Given the description of an element on the screen output the (x, y) to click on. 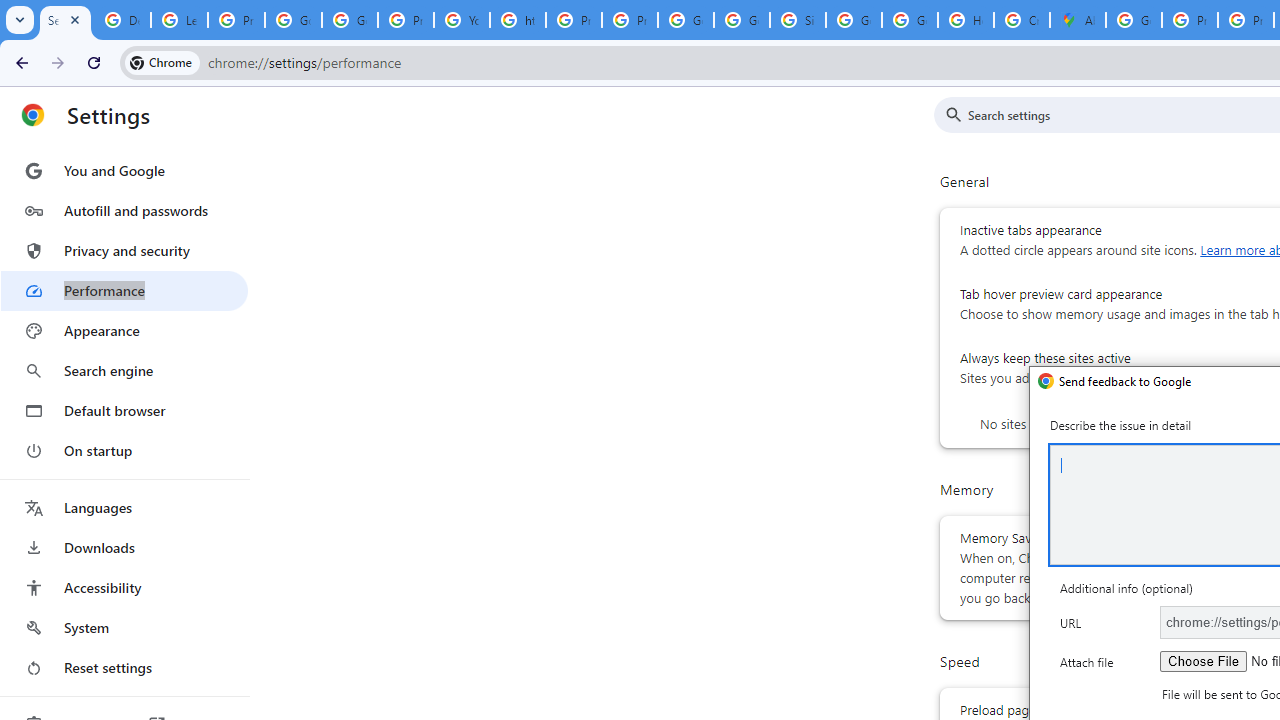
Appearance (124, 331)
Reset settings (124, 668)
Create your Google Account (1021, 20)
Google Account Help (293, 20)
On startup (124, 450)
Privacy Help Center - Policies Help (1190, 20)
Delete photos & videos - Computer - Google Photos Help (122, 20)
